Given the description of an element on the screen output the (x, y) to click on. 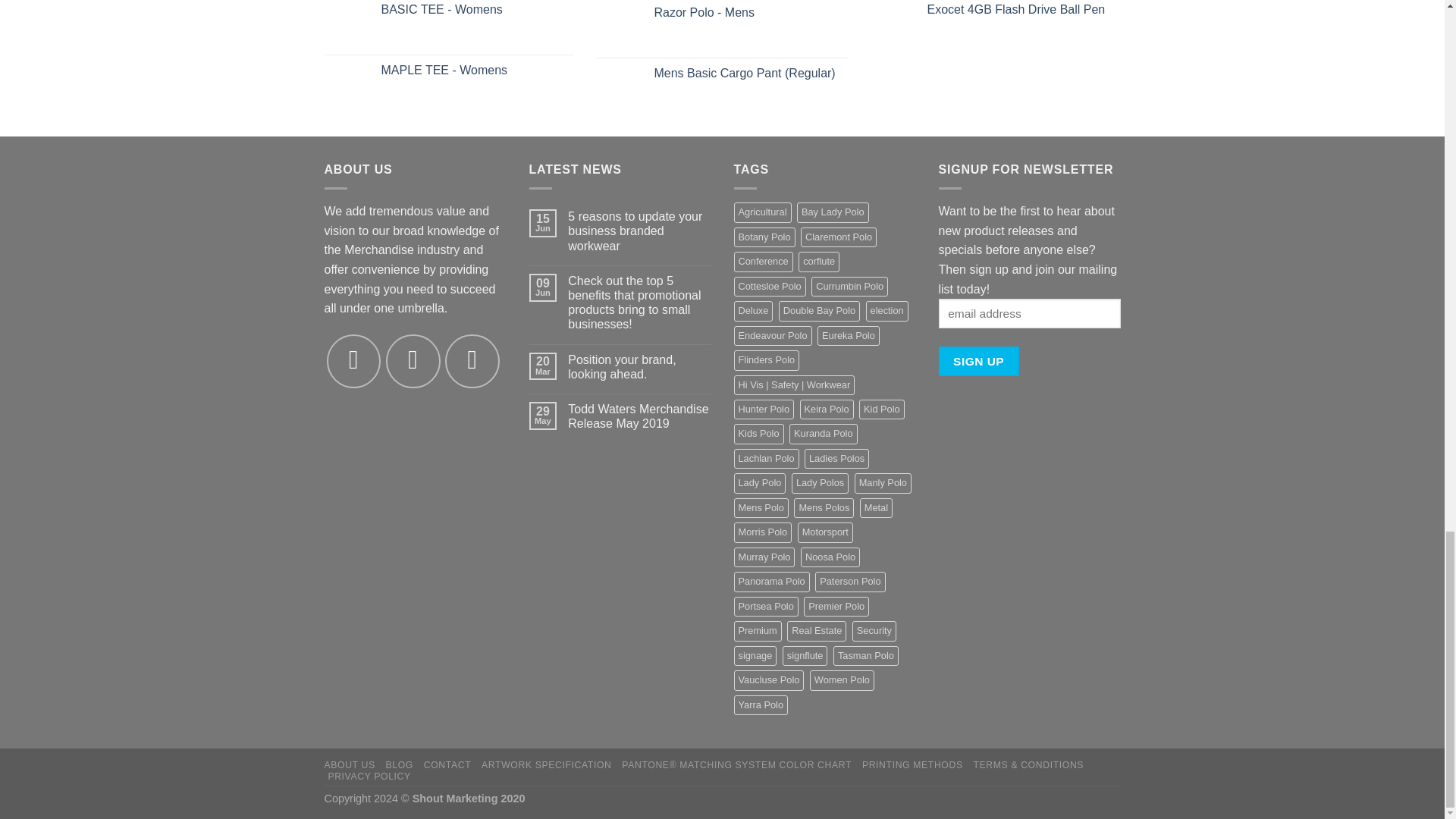
Sign up (979, 360)
Follow on Instagram (412, 361)
Follow on Facebook (353, 361)
